Given the description of an element on the screen output the (x, y) to click on. 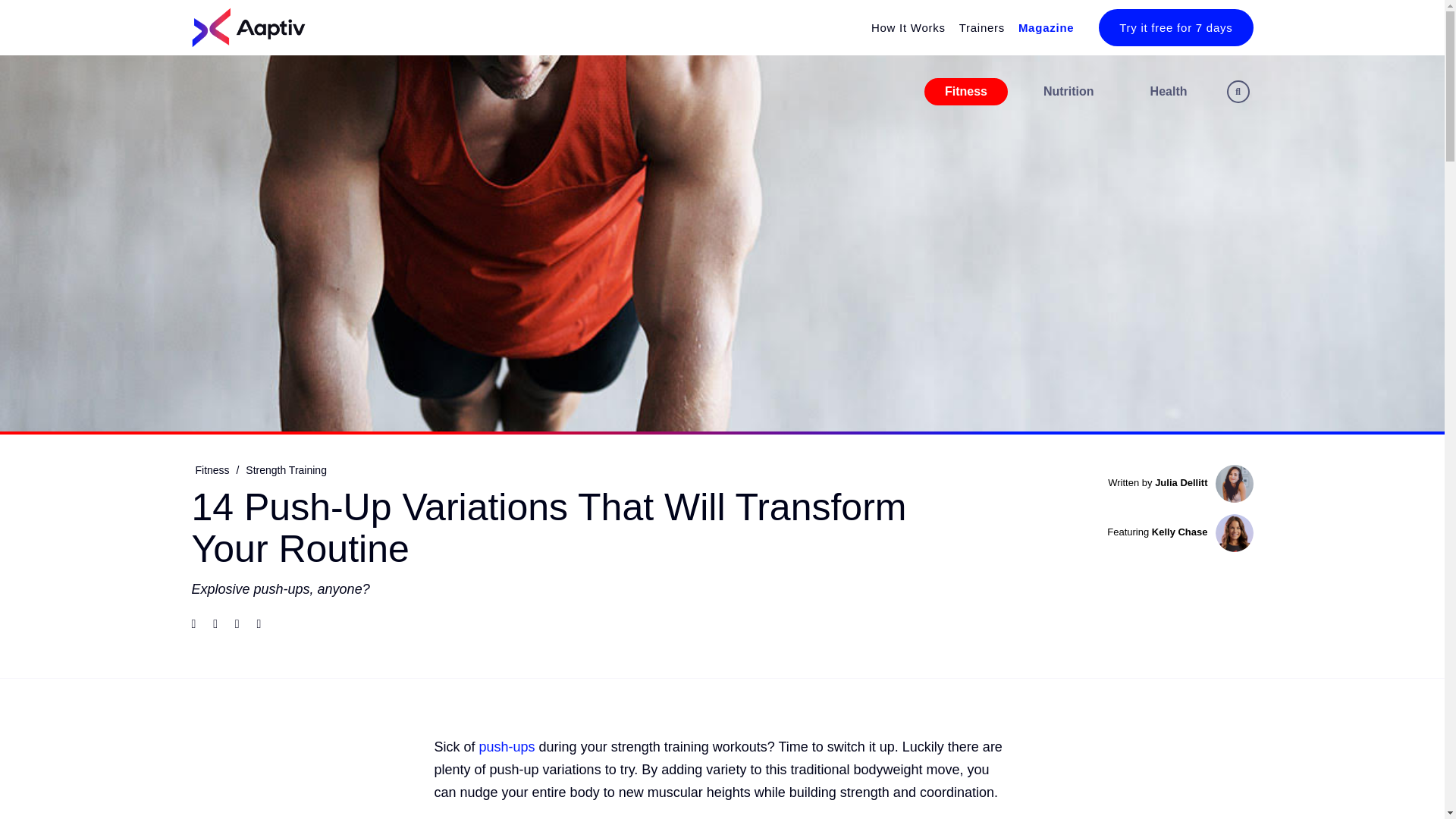
Try it free for 7 days (1175, 27)
Magazine (1040, 27)
Strength Training (285, 469)
Fitness (211, 469)
Trainers (975, 27)
Fitness (965, 91)
Health (1168, 91)
How It Works (902, 27)
Nutrition (1069, 91)
